Given the description of an element on the screen output the (x, y) to click on. 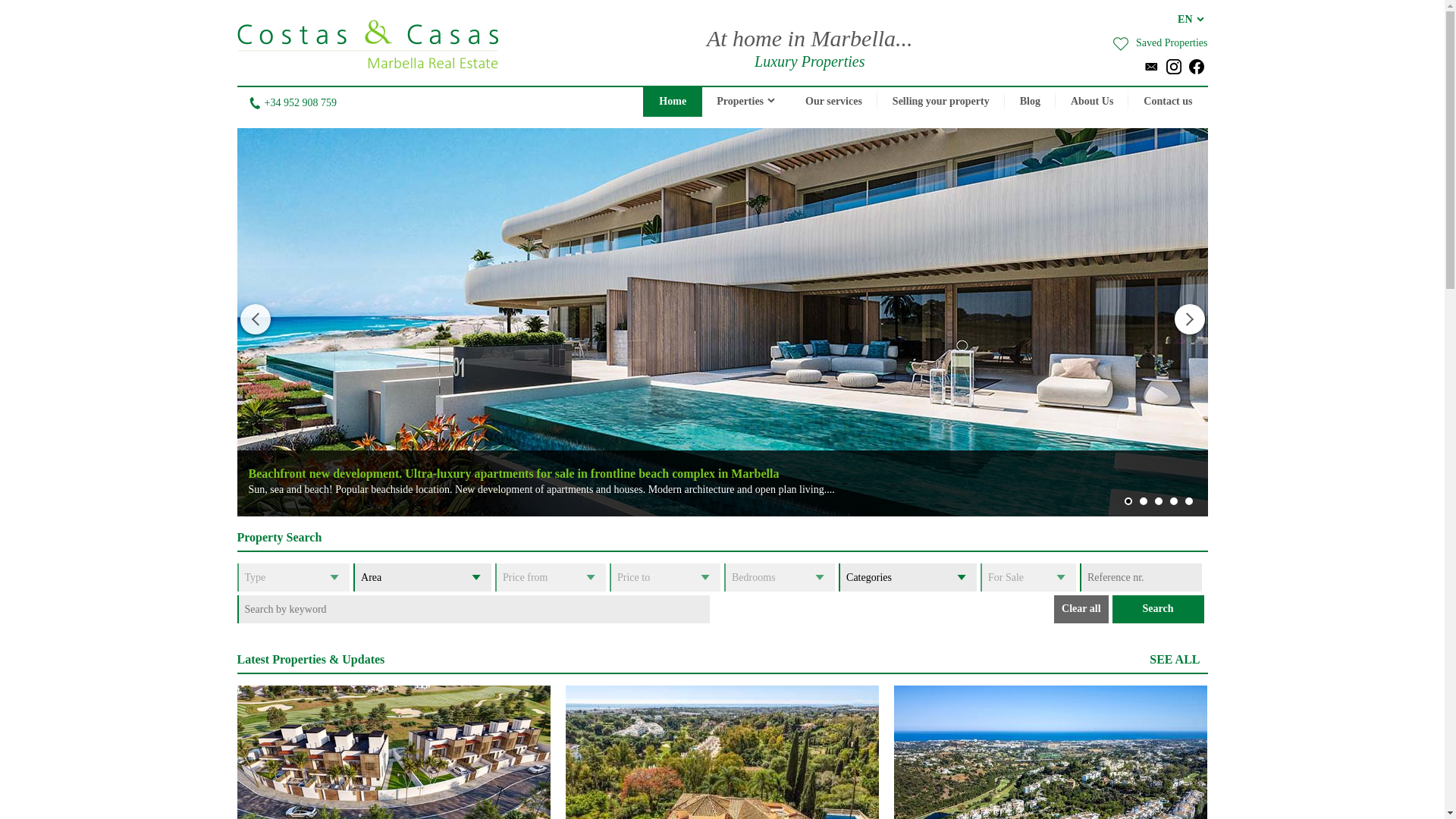
Contact us (1167, 101)
Blog (1029, 101)
Selling your property (940, 101)
Prev (254, 318)
Home (672, 101)
Next (1188, 318)
About Us (1091, 101)
Our services (833, 101)
